Given the description of an element on the screen output the (x, y) to click on. 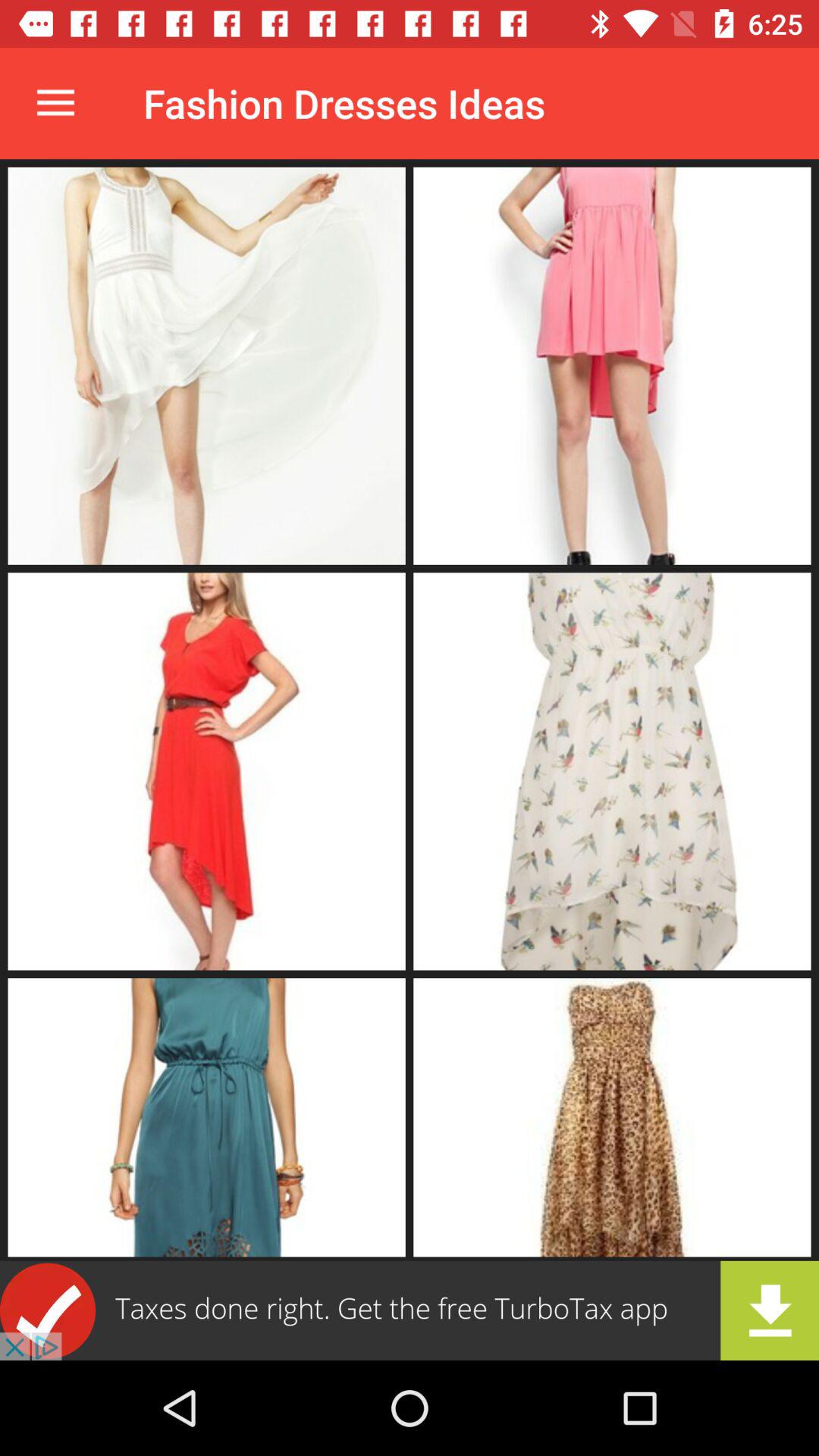
open advertisement (409, 1310)
